Given the description of an element on the screen output the (x, y) to click on. 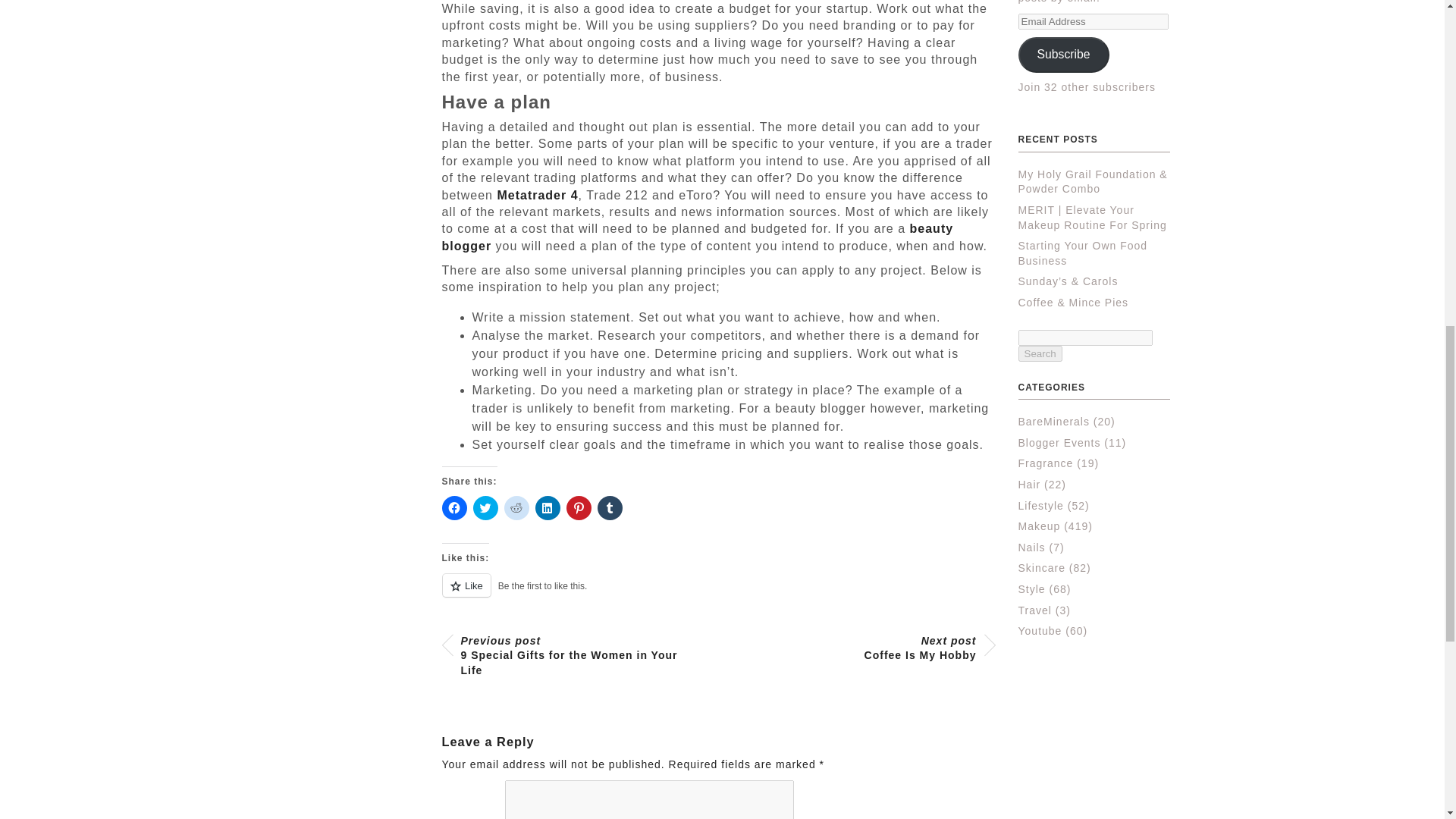
BareMinerals (1053, 421)
Starting Your Own Food Business (1082, 252)
Click to share on Tumblr (609, 508)
Click to share on Twitter (485, 508)
Click to share on Reddit (515, 508)
Blogger Events (1058, 442)
Like or Reblog (717, 594)
Search (1039, 353)
Click to share on LinkedIn (547, 508)
Click to share on Pinterest (578, 508)
Subscribe (1062, 54)
Search (1039, 353)
Metatrader 4 (870, 648)
